Given the description of an element on the screen output the (x, y) to click on. 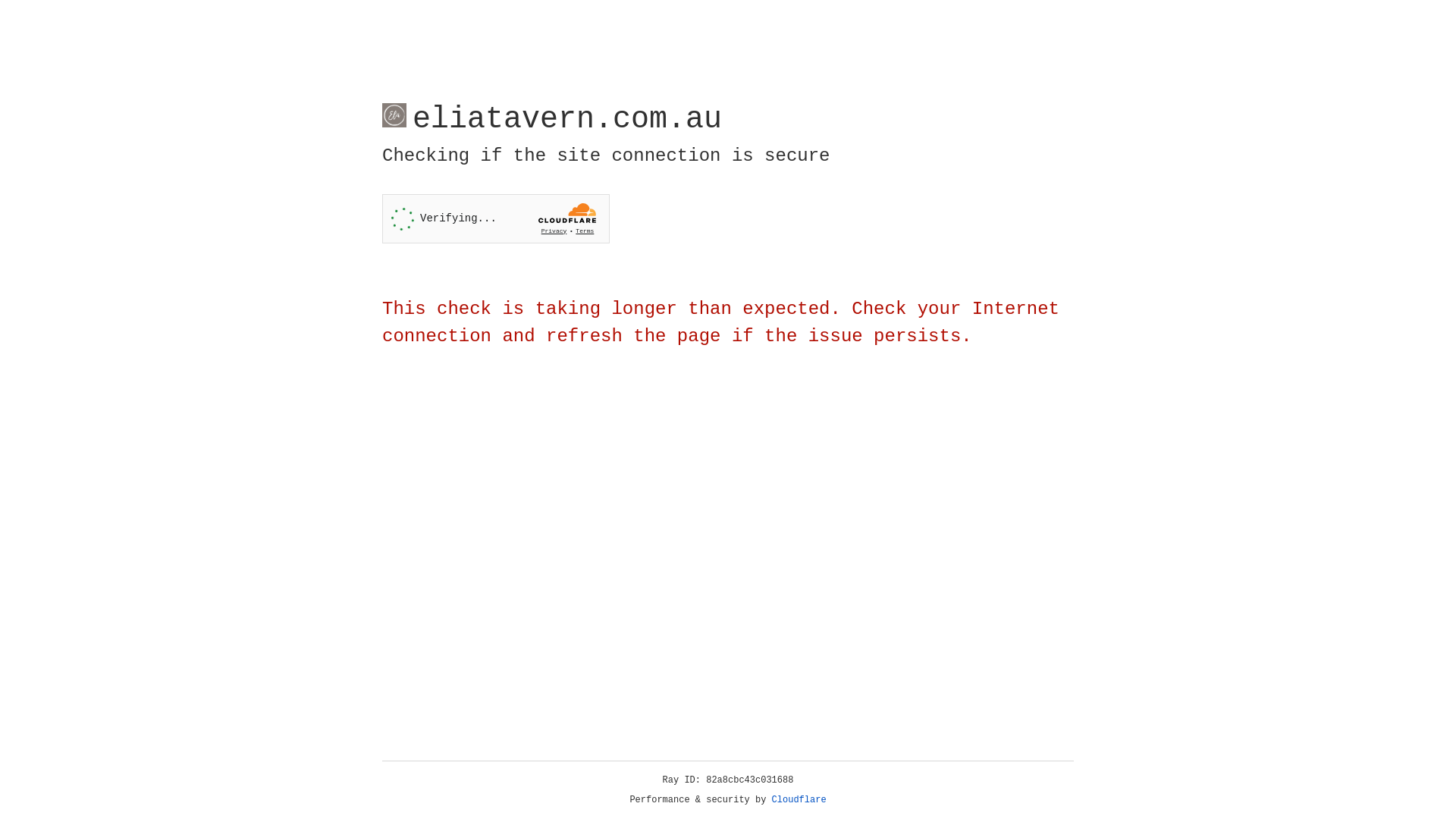
Widget containing a Cloudflare security challenge Element type: hover (495, 218)
Cloudflare Element type: text (798, 799)
